Given the description of an element on the screen output the (x, y) to click on. 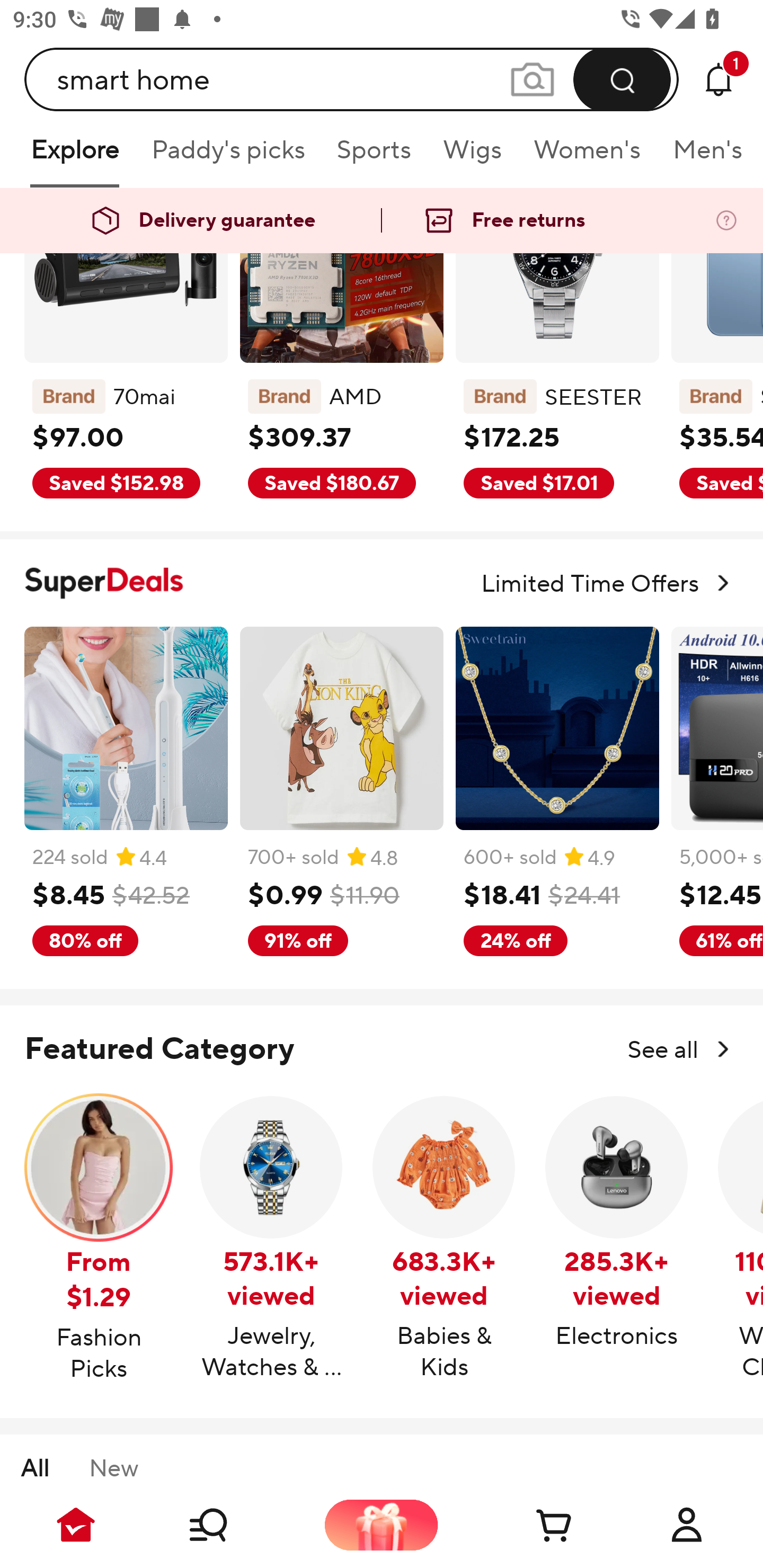
smart home (351, 79)
Paddy's picks (227, 155)
Sports (373, 155)
Wigs (472, 155)
Women's (586, 155)
Men's (701, 155)
From $1.29 Fashion Picks (98, 1239)
573.1K+ viewed Jewelry, Watches & Accessories (270, 1238)
683.3K+ viewed Babies & Kids (444, 1238)
285.3K+ viewed Electronics (616, 1222)
New (113, 1467)
Shop (228, 1524)
Cart (533, 1524)
Account (686, 1524)
